Given the description of an element on the screen output the (x, y) to click on. 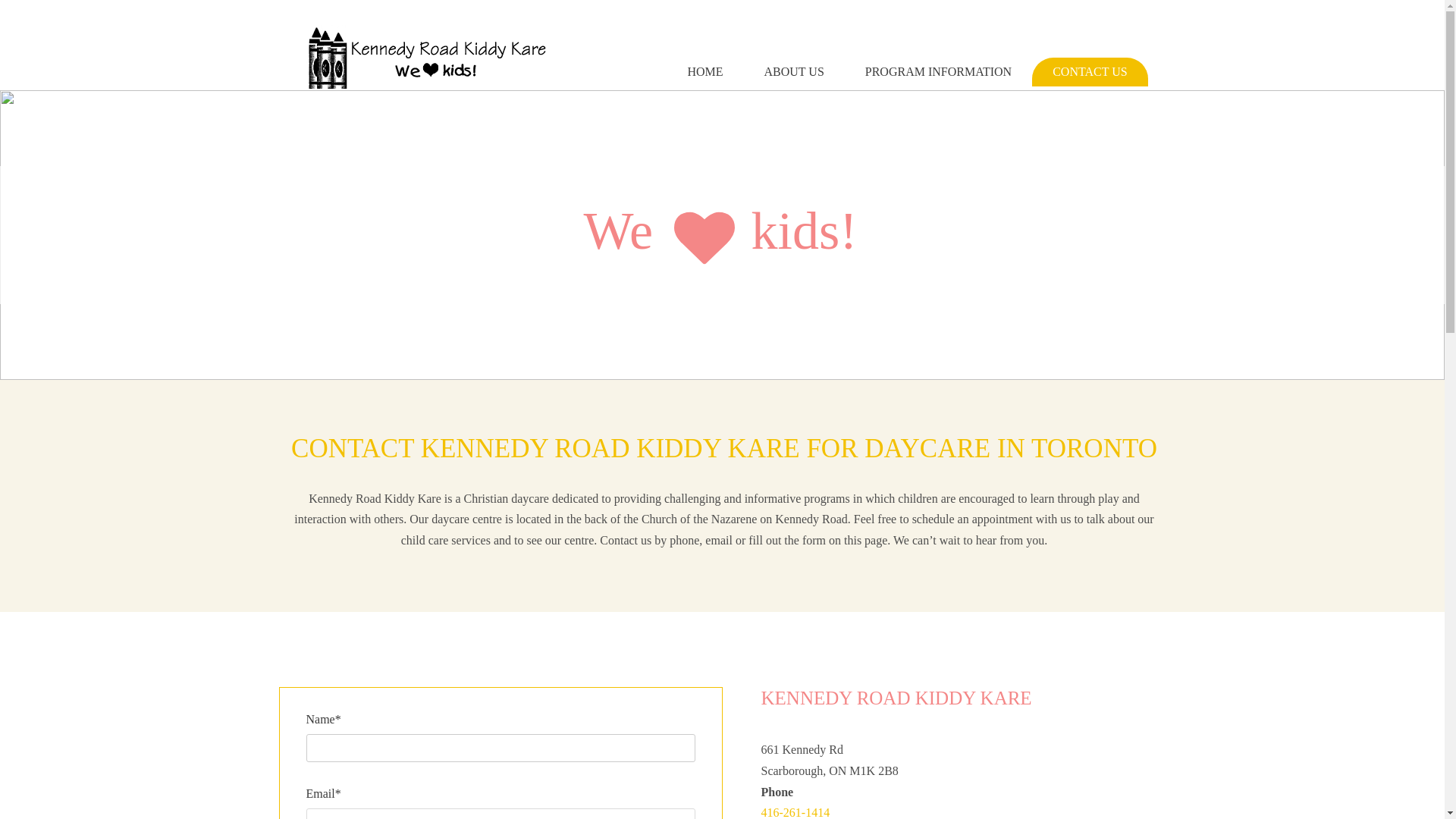
ABOUT US (794, 71)
416-261-1414 (795, 812)
CONTACT US (1089, 71)
HOME (704, 71)
PROGRAM INFORMATION (938, 71)
